Given the description of an element on the screen output the (x, y) to click on. 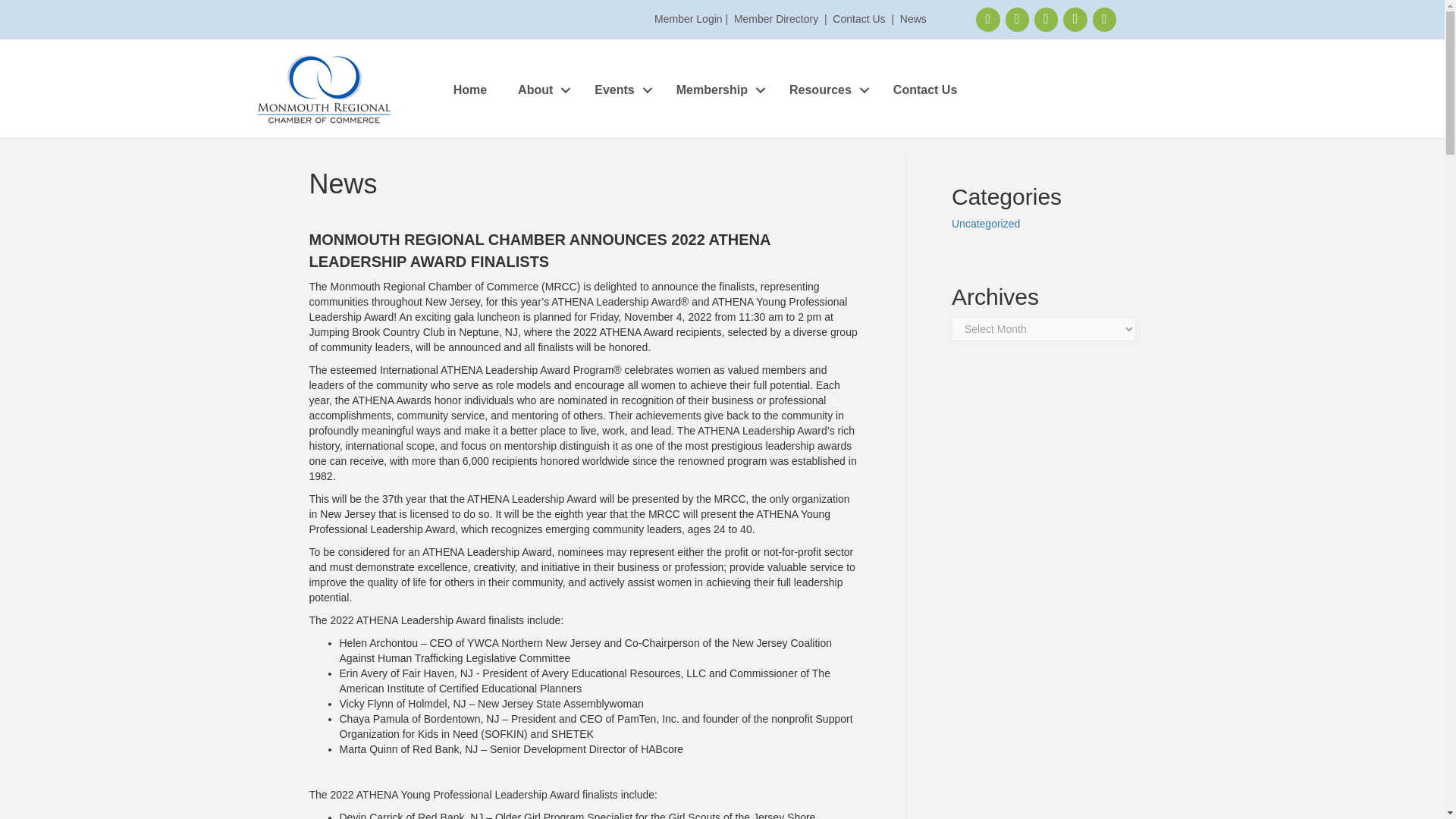
News (912, 19)
monmouth-regional-chamber-logo (324, 90)
Events (619, 90)
Member Directory (775, 19)
Contact Us (858, 19)
Home (470, 90)
Membership (717, 90)
Member Login (687, 19)
About (540, 90)
